Given the description of an element on the screen output the (x, y) to click on. 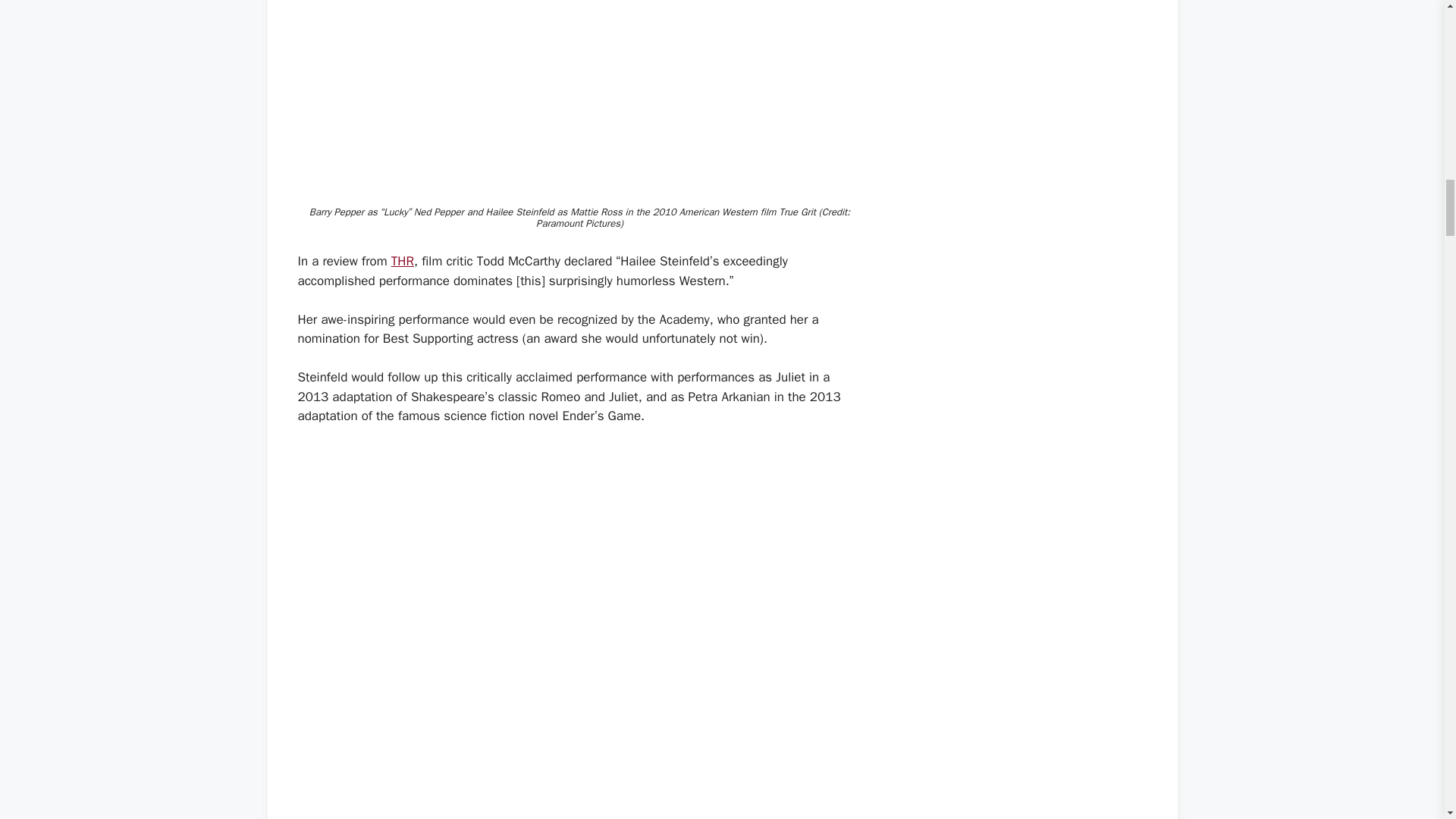
THR (402, 261)
